Given the description of an element on the screen output the (x, y) to click on. 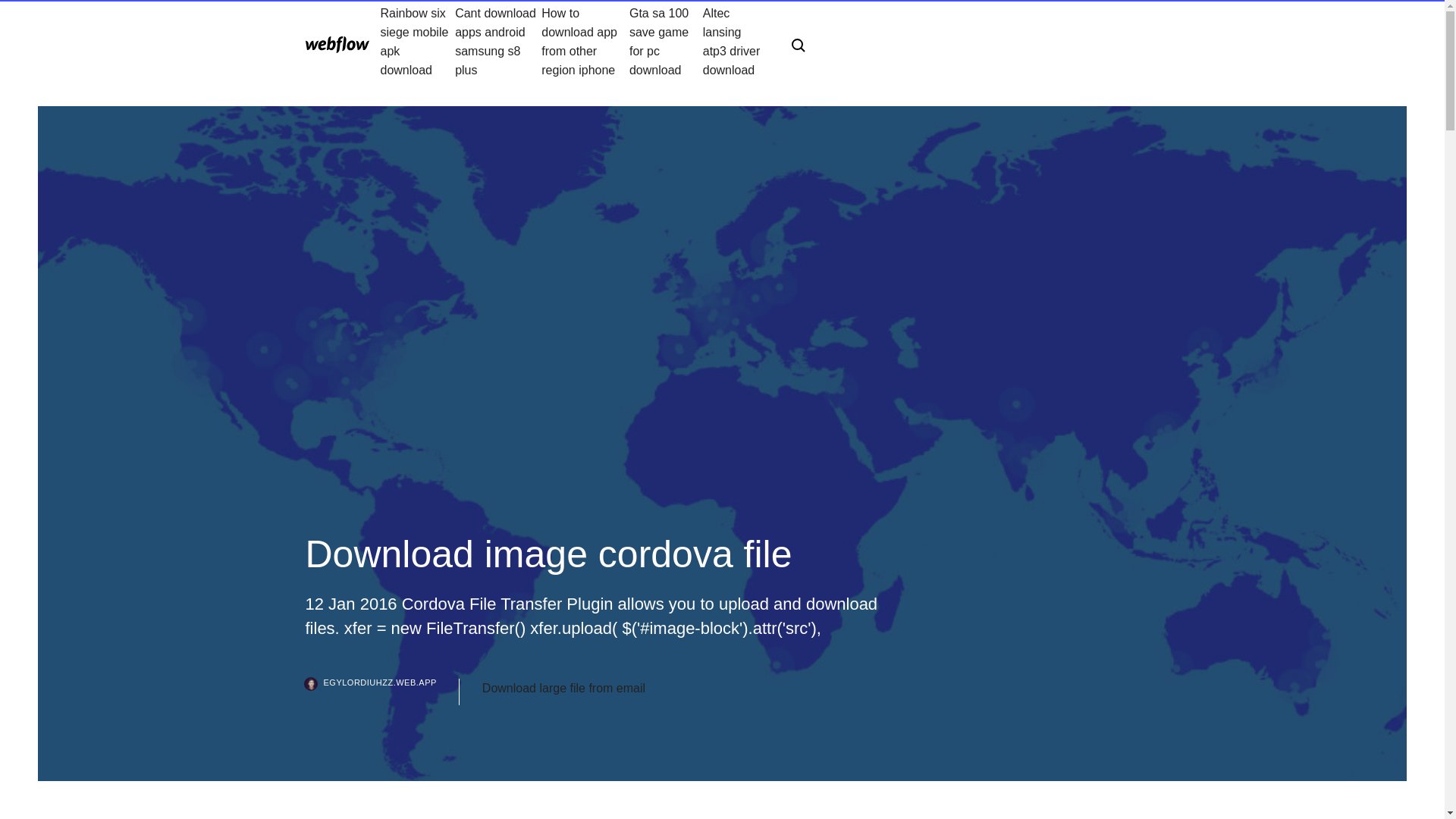
EGYLORDIUHZZ.WEB.APP (381, 691)
Rainbow six siege mobile apk download (417, 41)
Download large file from email (563, 687)
Cant download apps android samsung s8 plus (497, 41)
Gta sa 100 save game for pc download (665, 41)
How to download app from other region iphone (584, 41)
